Given the description of an element on the screen output the (x, y) to click on. 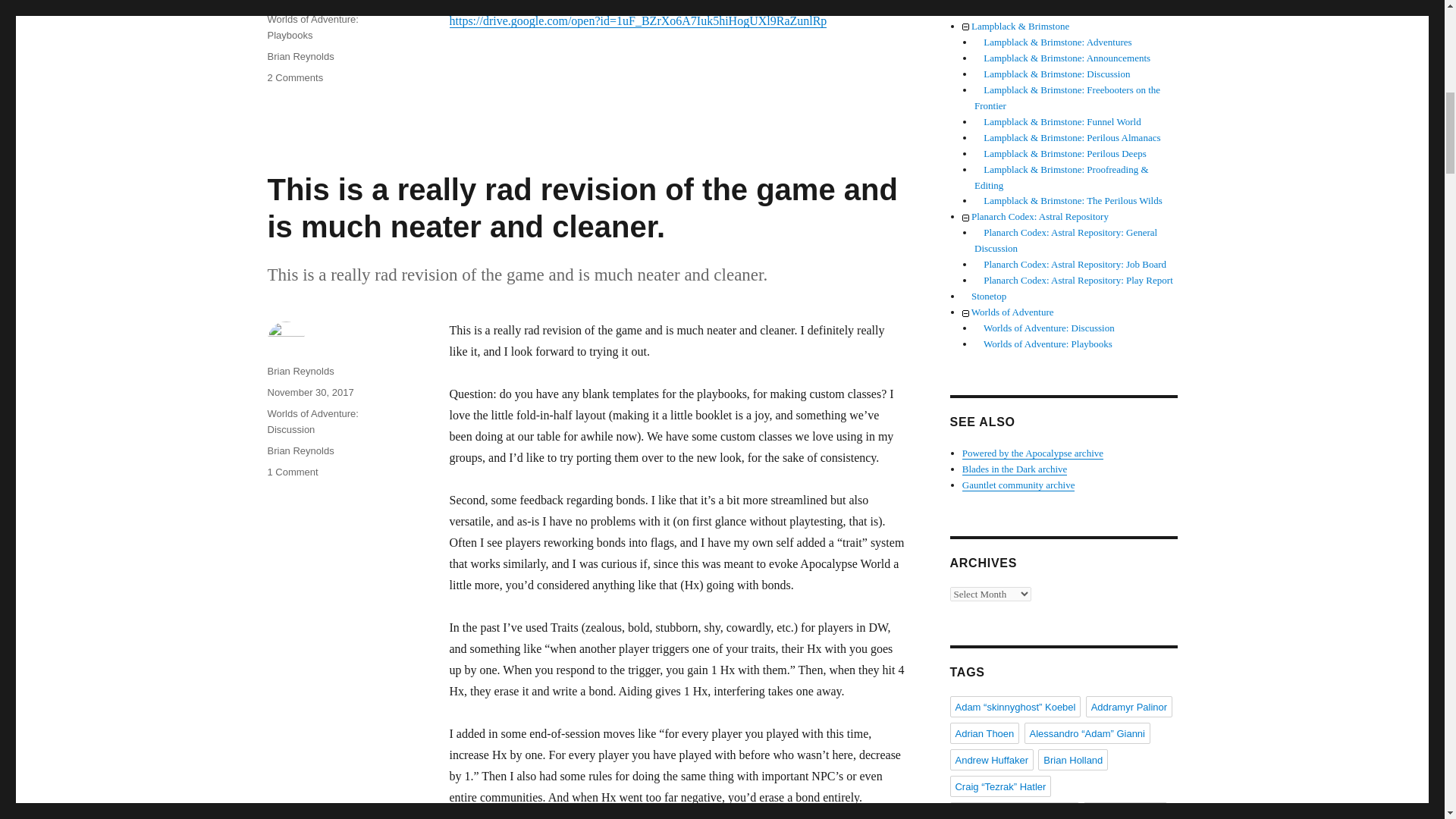
Worlds of Adventure: Playbooks (312, 26)
December 6, 2017 (306, 2)
Brian Reynolds (299, 56)
Worlds of Adventure: Discussion (312, 420)
Brian Reynolds (299, 450)
Brian Reynolds (299, 370)
November 30, 2017 (309, 392)
